Given the description of an element on the screen output the (x, y) to click on. 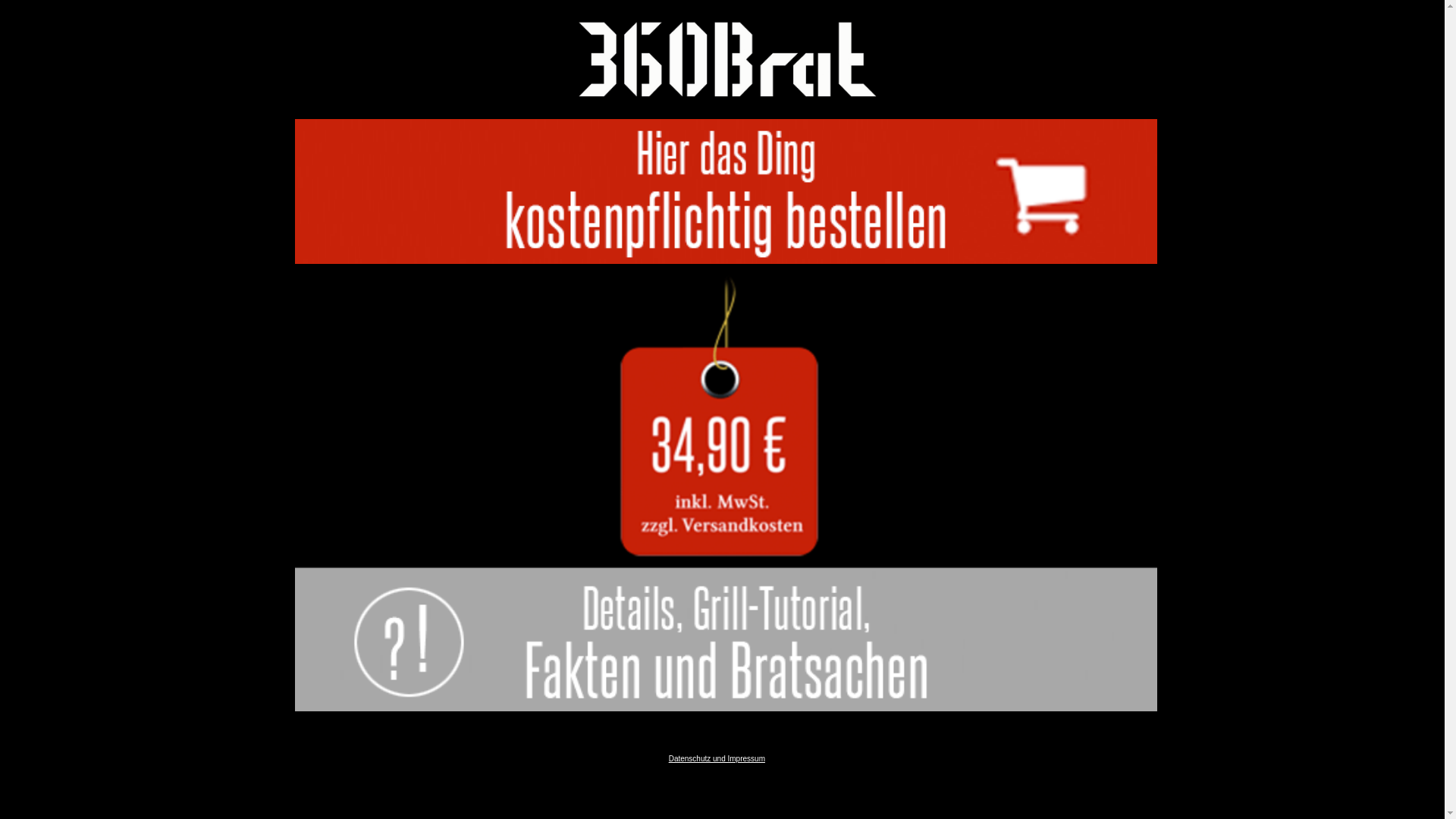
Datenschutz und Impressum Element type: text (716, 758)
